Given the description of an element on the screen output the (x, y) to click on. 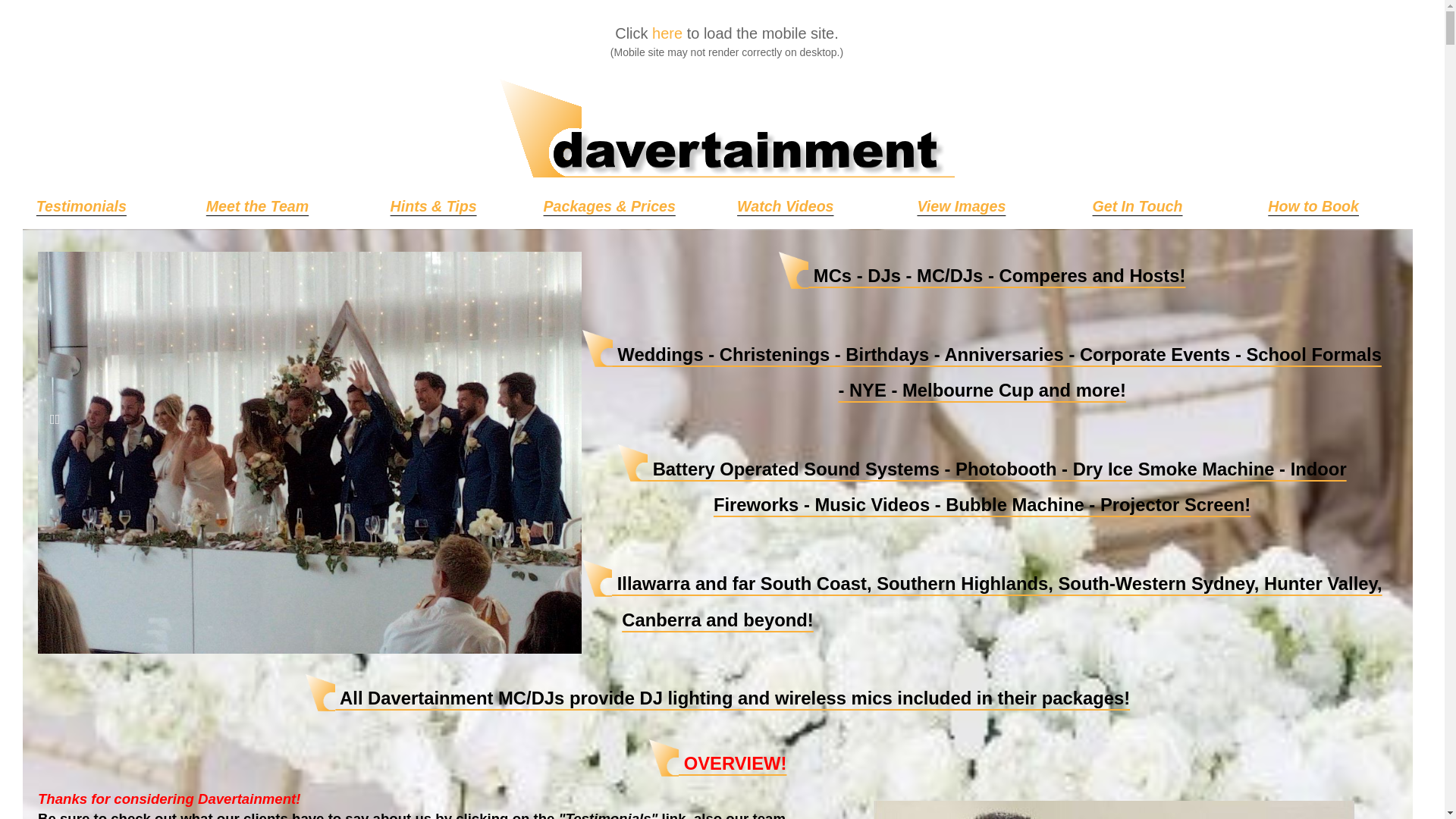
Packages & Prices Element type: text (609, 208)
here Element type: text (667, 33)
Meet the Team Element type: text (257, 208)
